Given the description of an element on the screen output the (x, y) to click on. 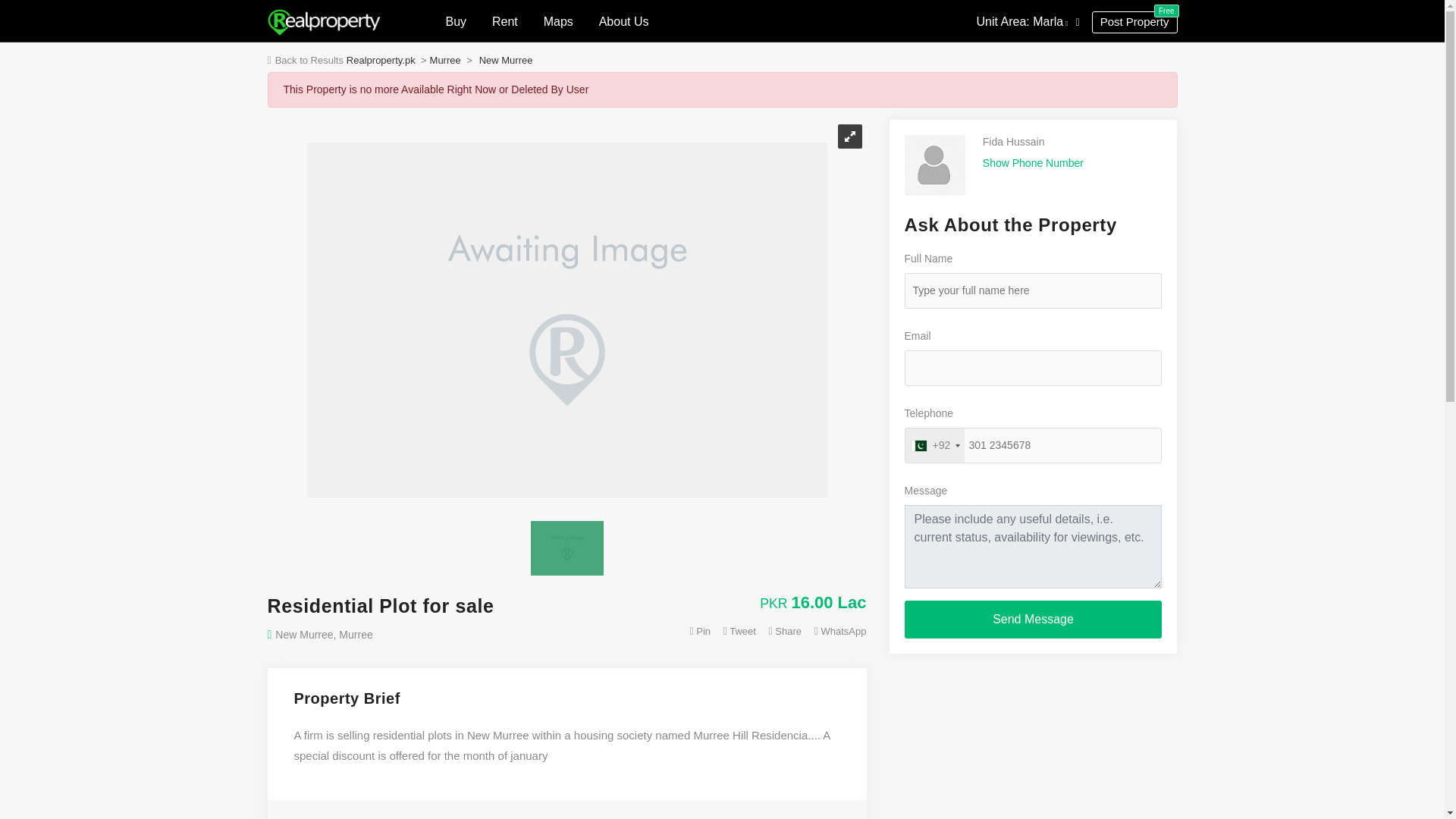
Marla (1049, 21)
Rent (505, 21)
Buy (456, 21)
WhatsApp (839, 631)
About Us (623, 21)
Realproperty.pk (386, 60)
Share   (788, 631)
Maps (558, 21)
Murree (450, 60)
Tweet   (1134, 22)
Show Phone Number (742, 631)
New Murree (1032, 162)
Pin   (511, 60)
Send Message (702, 631)
